Given the description of an element on the screen output the (x, y) to click on. 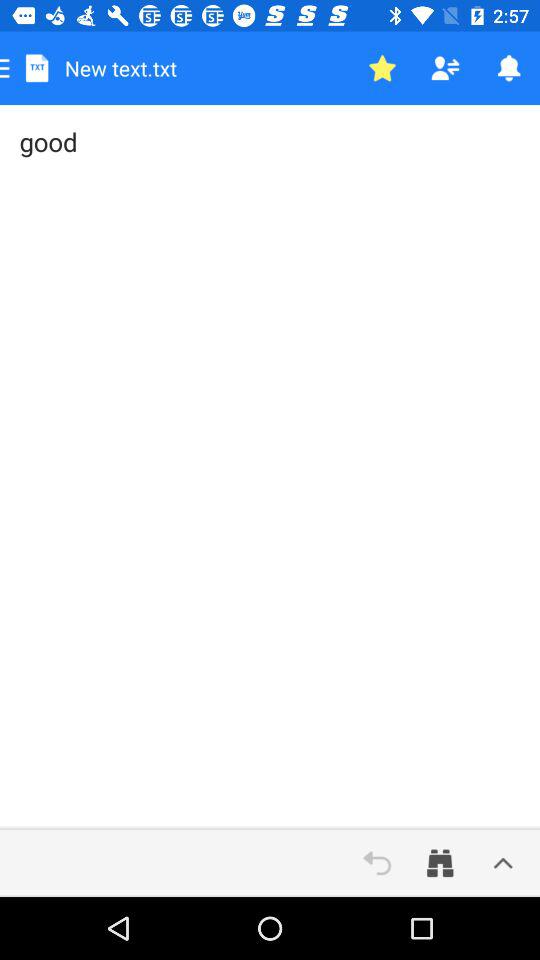
find (440, 863)
